Given the description of an element on the screen output the (x, y) to click on. 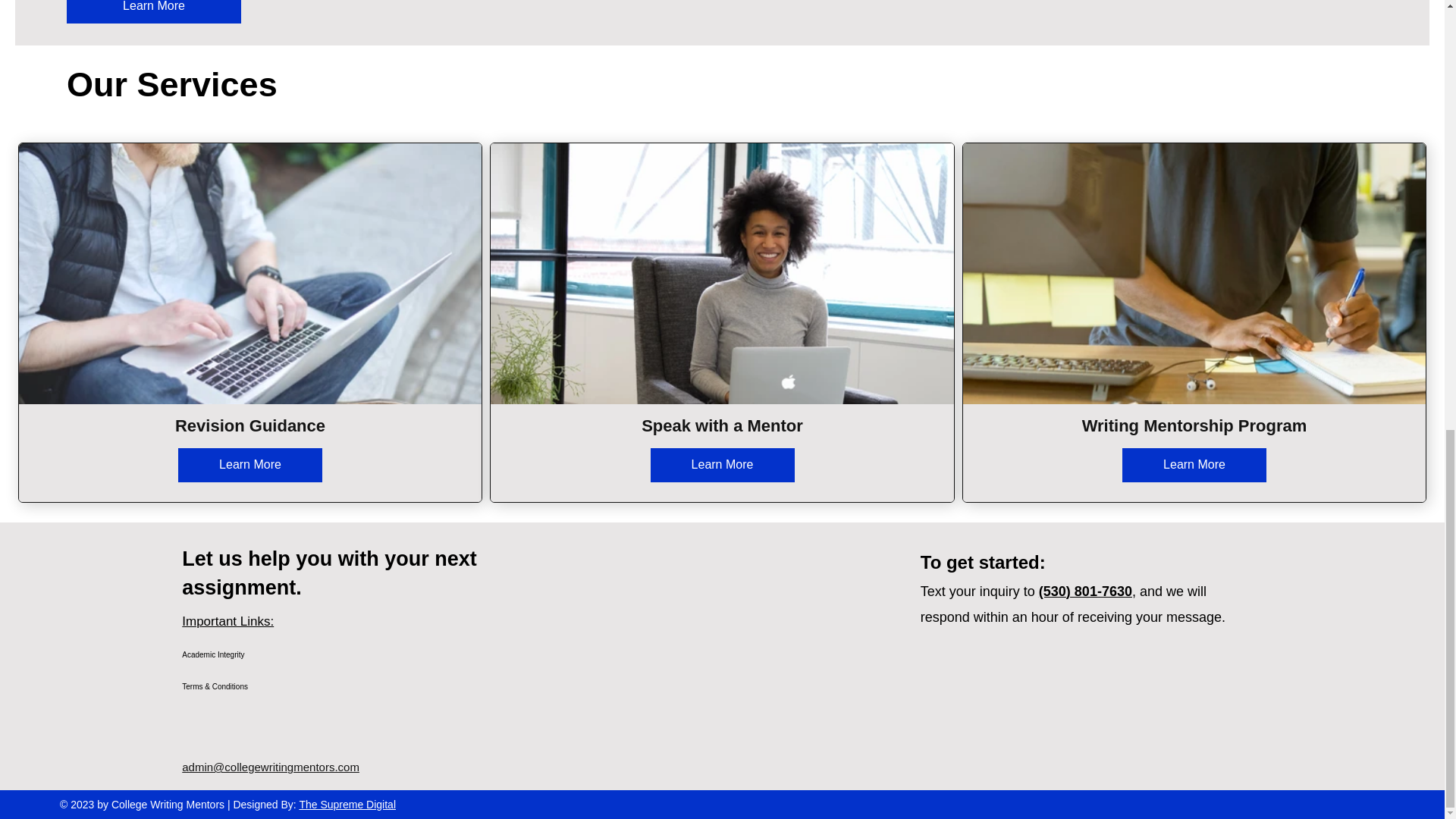
Learn More (722, 464)
Learn More (1194, 464)
Learn More (153, 11)
The Supreme Digital (347, 804)
Academic Integrity (250, 654)
Learn More (249, 464)
